Given the description of an element on the screen output the (x, y) to click on. 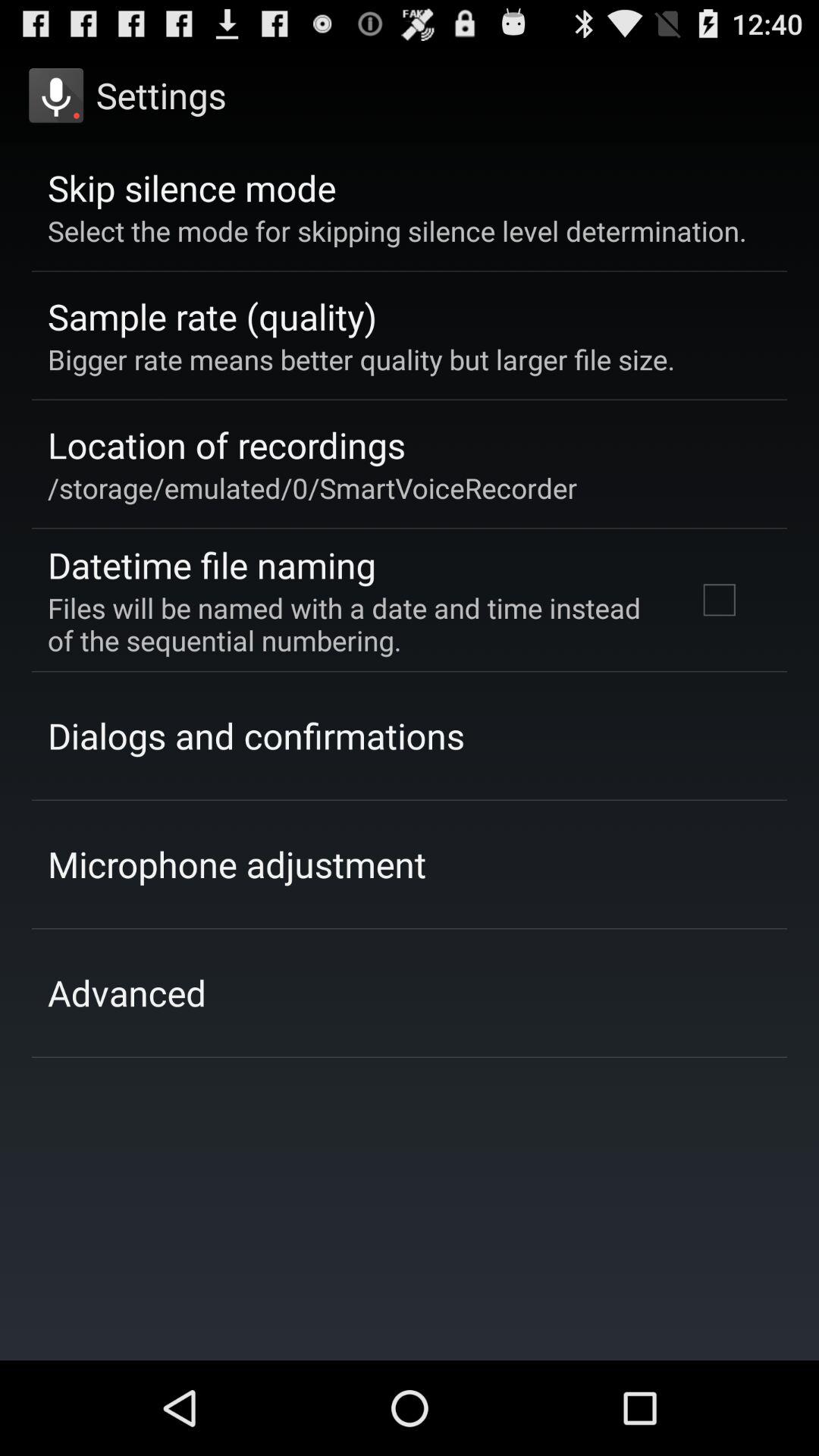
swipe until the files will be item (351, 624)
